Given the description of an element on the screen output the (x, y) to click on. 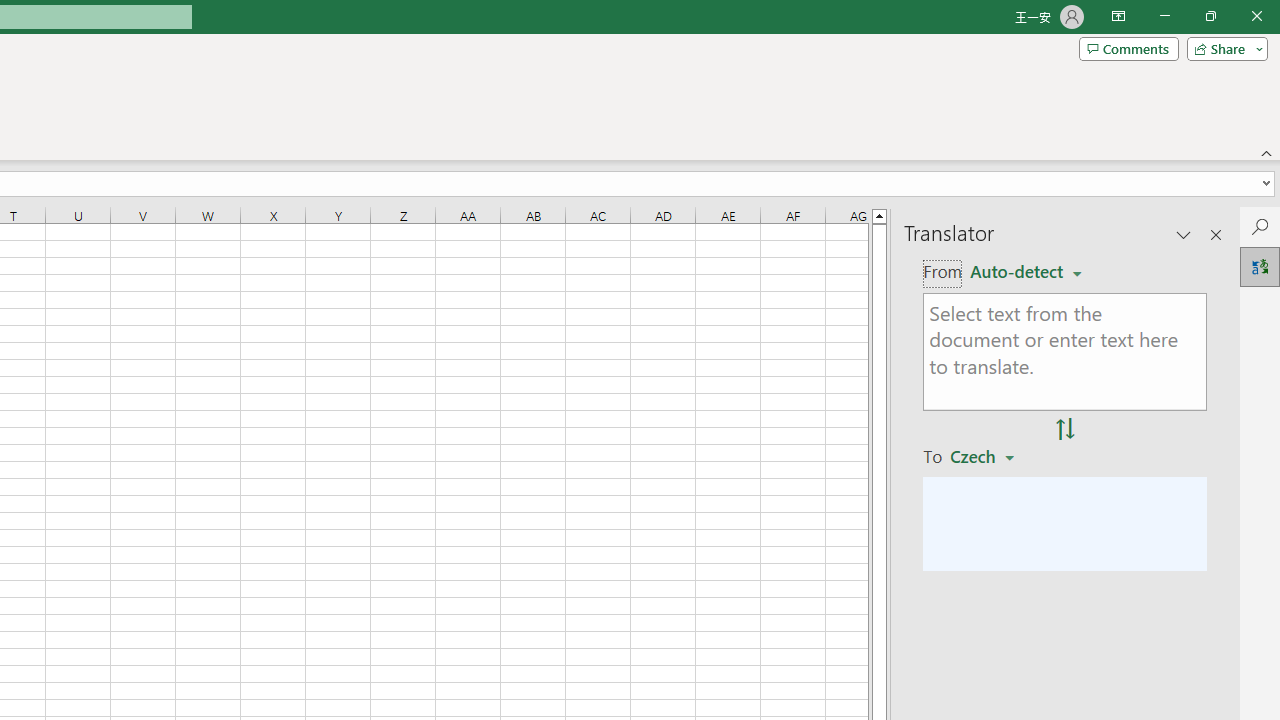
English (1025, 272)
Translator (1260, 266)
Swap "from" and "to" languages. (1065, 429)
